Given the description of an element on the screen output the (x, y) to click on. 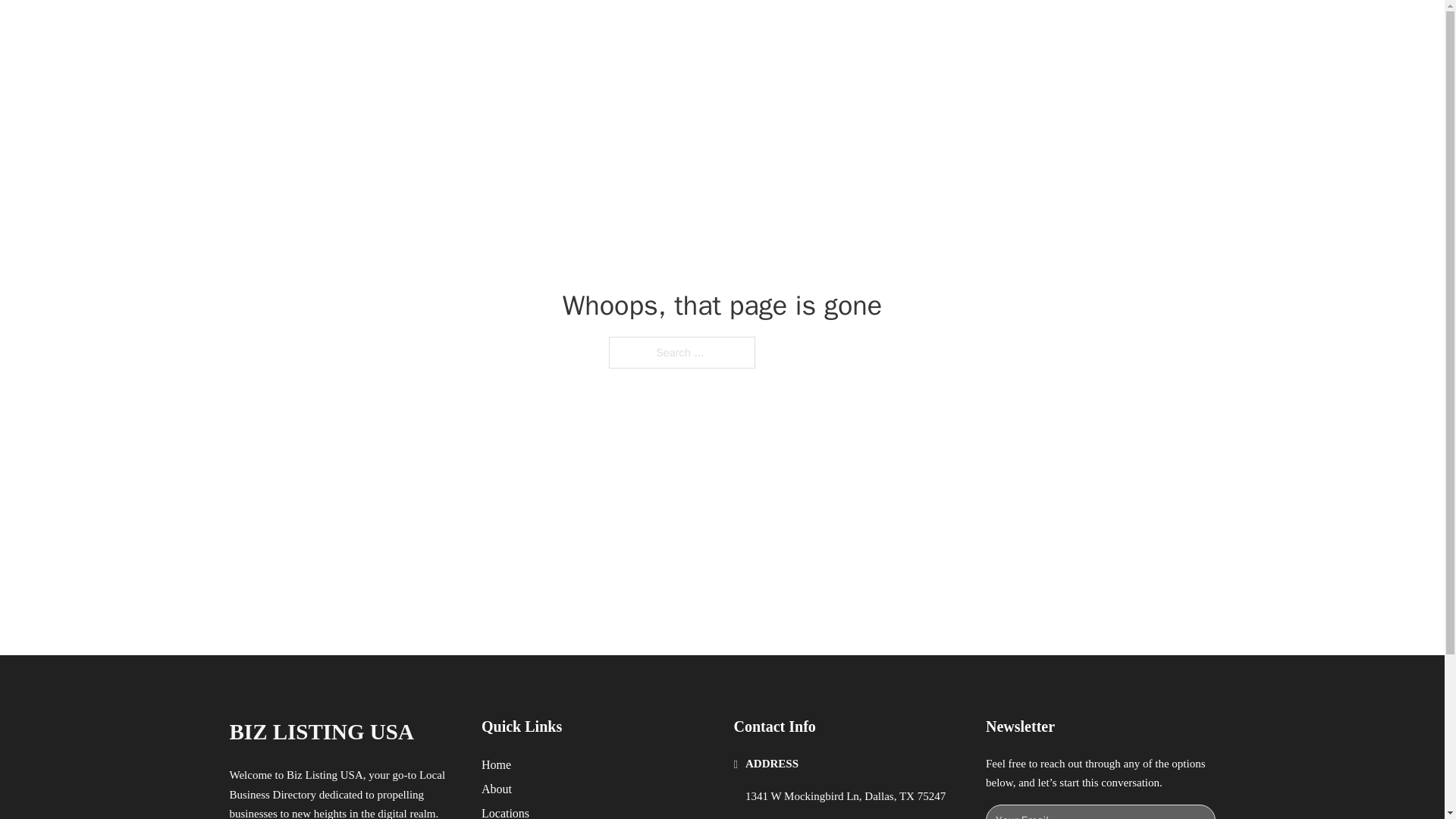
Home (496, 764)
LOCATIONS (990, 29)
BIZ LISTING USA (394, 28)
HOME (919, 29)
BIZ LISTING USA (320, 732)
About (496, 788)
Locations (505, 811)
